Given the description of an element on the screen output the (x, y) to click on. 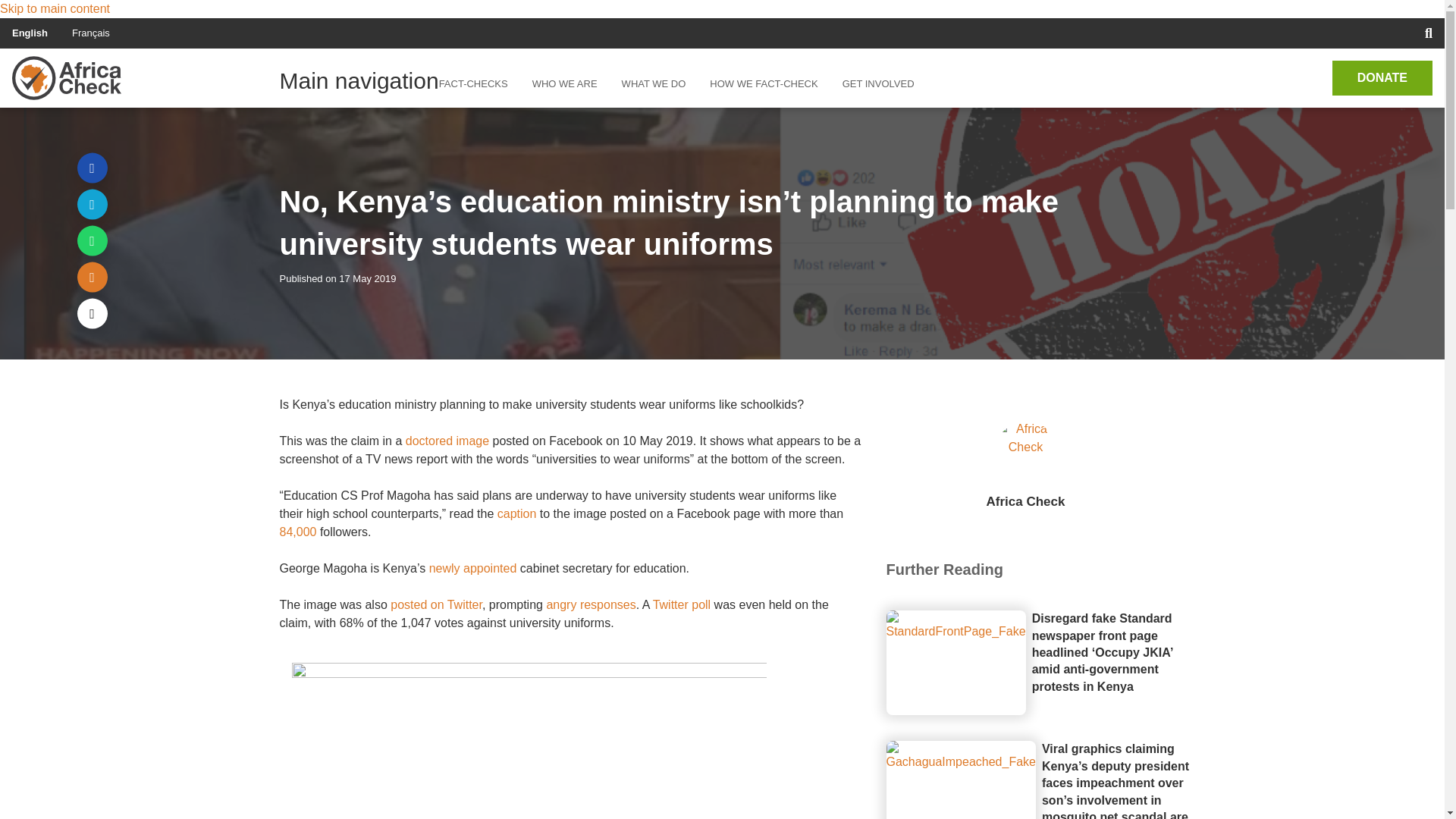
WHO WE ARE (564, 84)
WHAT WE DO (654, 84)
GET INVOLVED (877, 84)
HOW WE FACT-CHECK (763, 84)
DONATE (1382, 77)
Skip to main content (55, 8)
English (29, 32)
FACT-CHECKS (479, 84)
